Given the description of an element on the screen output the (x, y) to click on. 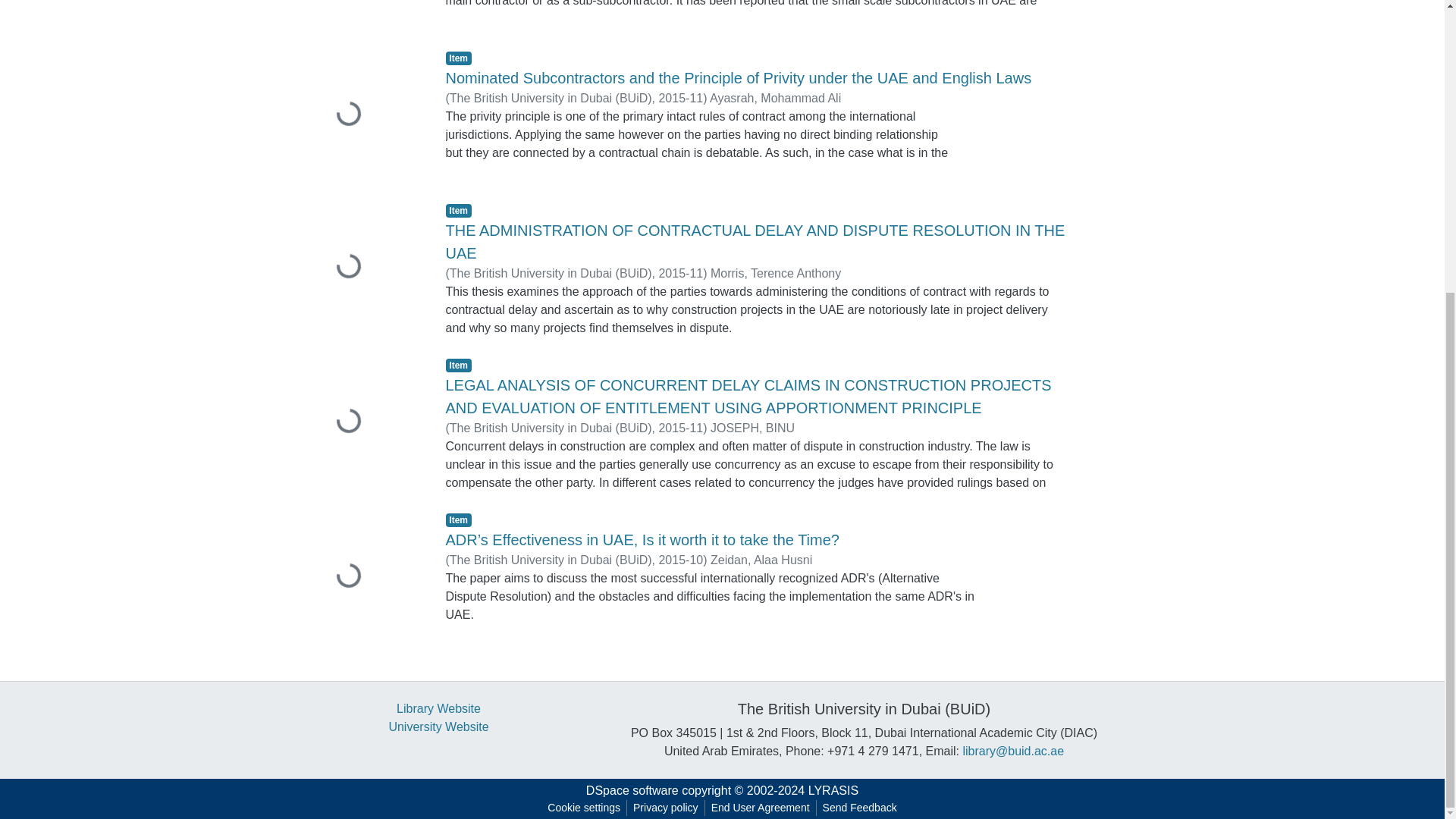
Loading... (362, 267)
Loading... (362, 15)
Loading... (362, 115)
